Given the description of an element on the screen output the (x, y) to click on. 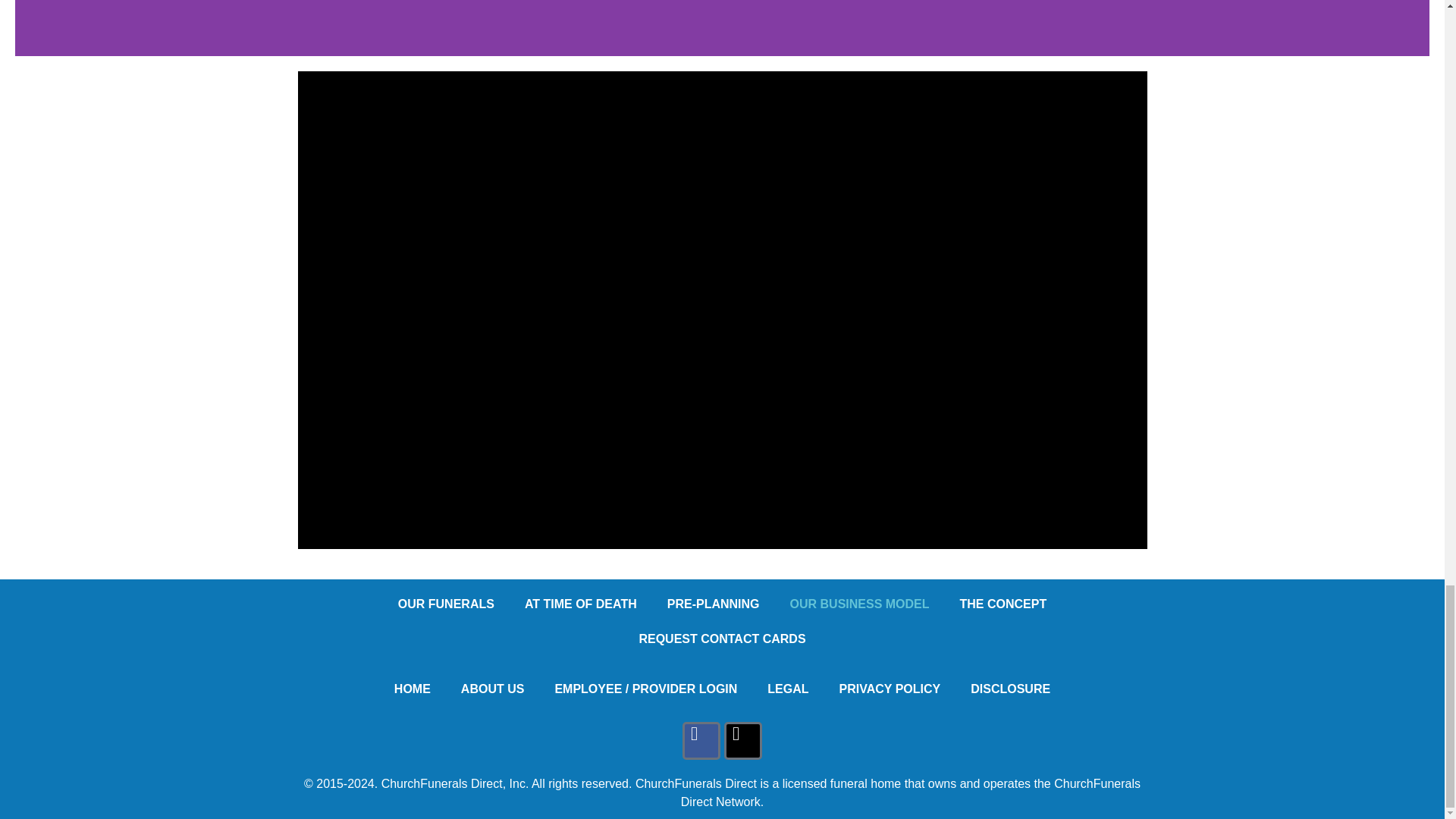
THE CONCEPT (1003, 604)
PRIVACY POLICY (890, 688)
LEGAL (788, 688)
DISCLOSURE (1010, 688)
HOME (411, 688)
OUR FUNERALS (445, 604)
ABOUT US (492, 688)
OUR BUSINESS MODEL (859, 604)
PRE-PLANNING (713, 604)
